Given the description of an element on the screen output the (x, y) to click on. 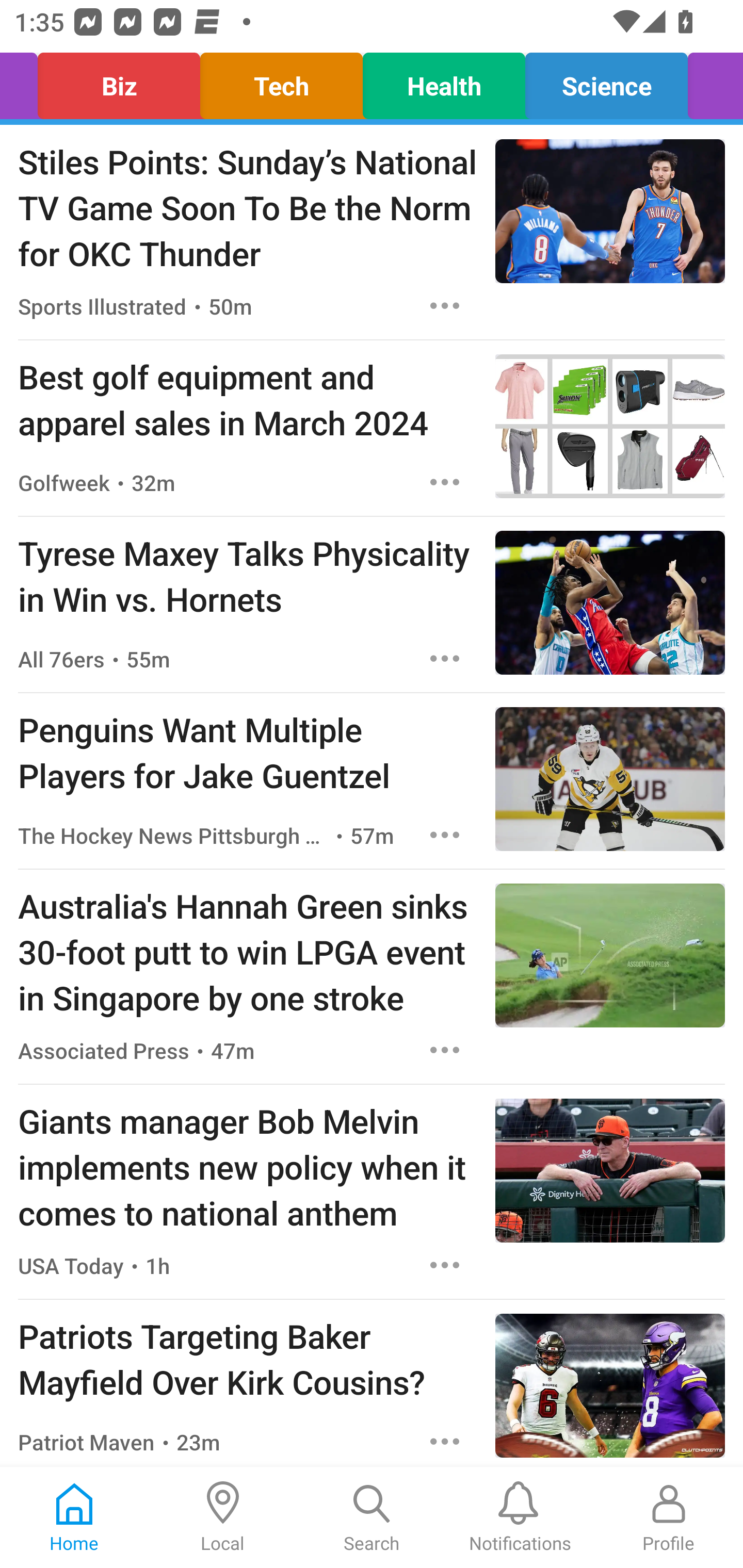
Biz (118, 81)
Tech (281, 81)
Health (444, 81)
Science (606, 81)
Options (444, 305)
Options (444, 481)
Options (444, 658)
Options (444, 834)
Options (444, 1050)
Options (444, 1265)
Options (444, 1441)
Local (222, 1517)
Search (371, 1517)
Notifications (519, 1517)
Profile (668, 1517)
